Given the description of an element on the screen output the (x, y) to click on. 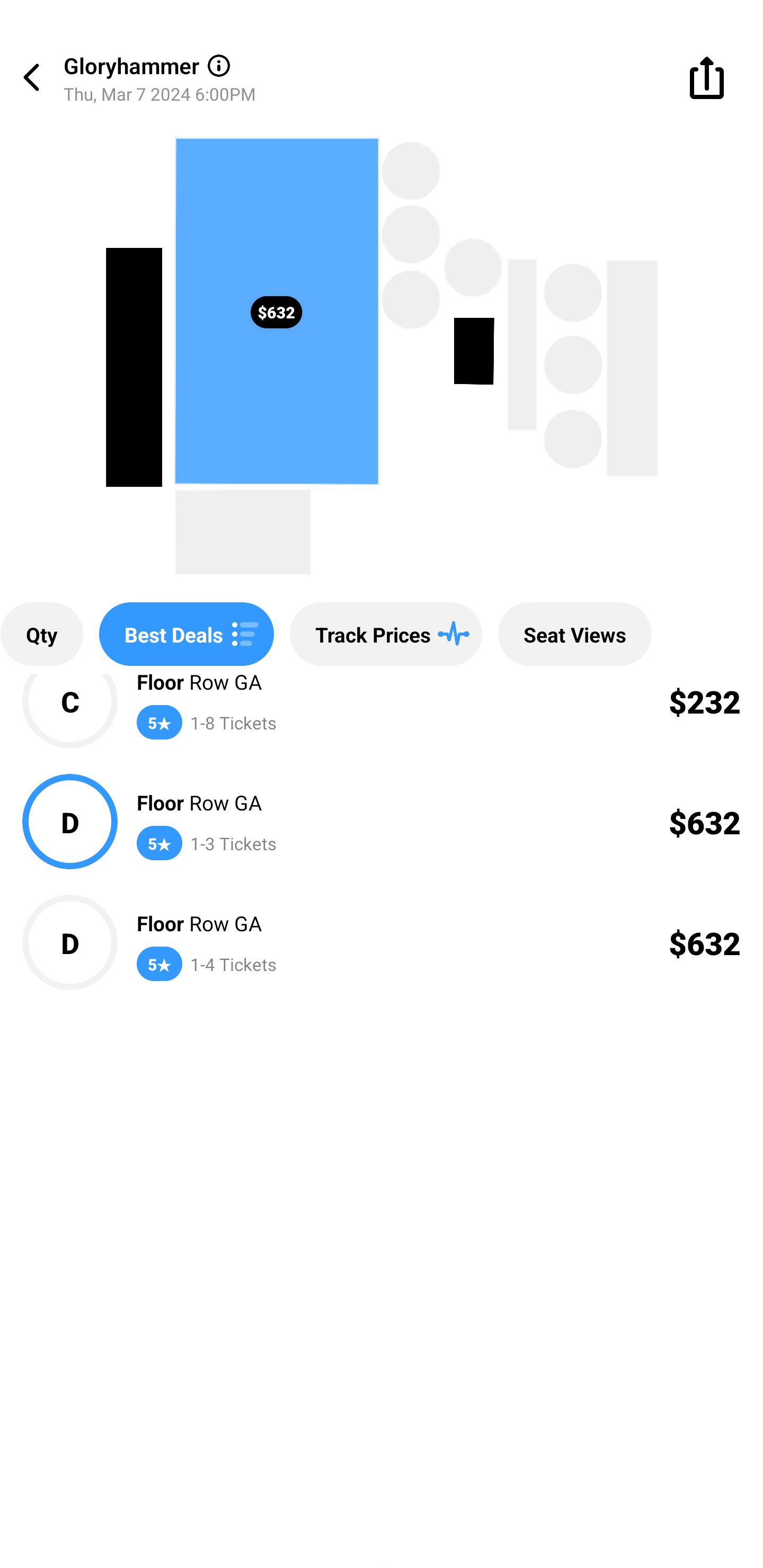
$632 (276, 311)
Qty (41, 634)
Best Deals (186, 634)
Track Prices (385, 634)
Seat Views (574, 634)
